Given the description of an element on the screen output the (x, y) to click on. 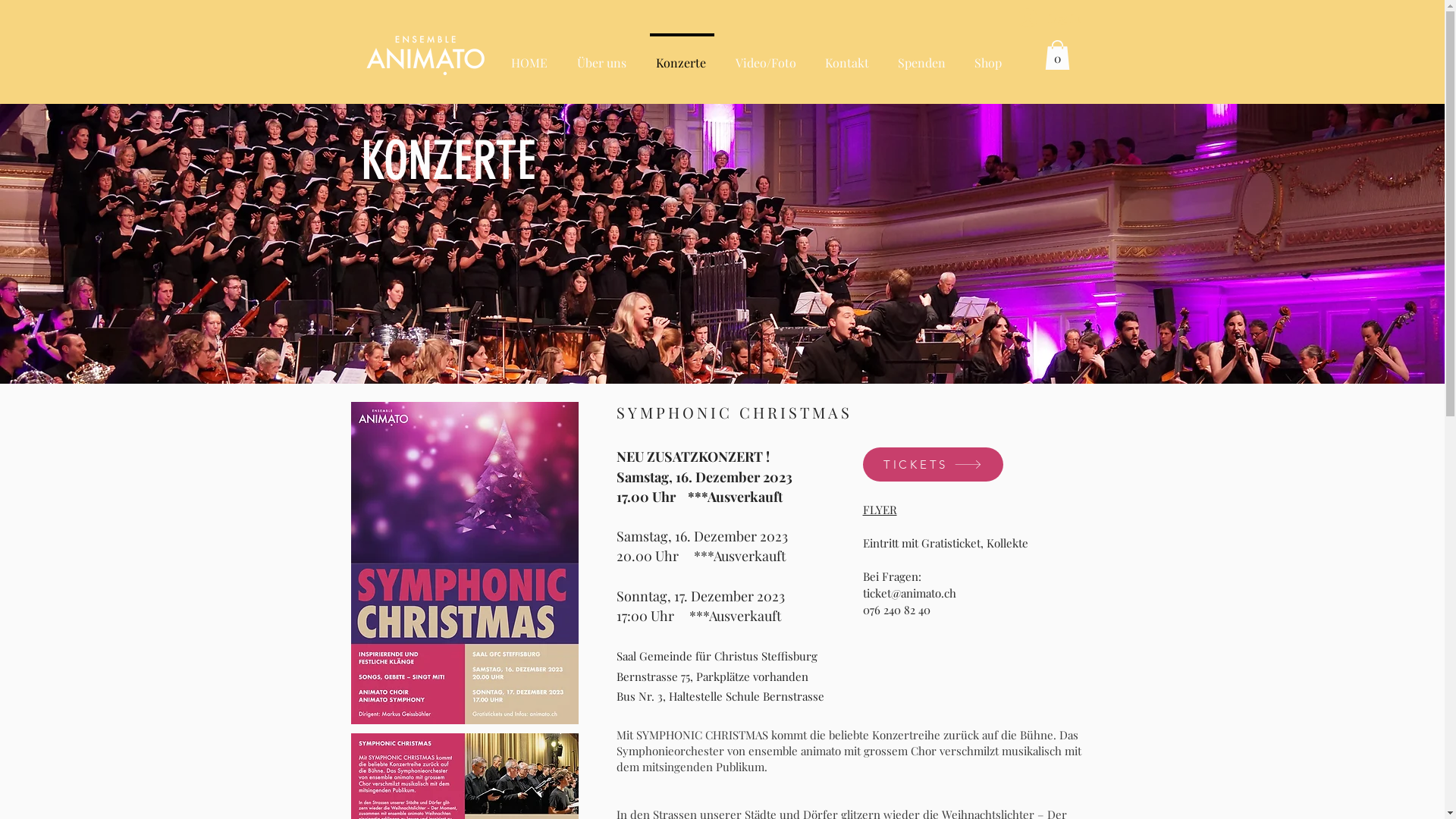
0 Element type: text (1057, 54)
HOME Element type: text (530, 55)
Spenden Element type: text (922, 55)
Shop Element type: text (988, 55)
Video/Foto Element type: text (766, 55)
FLYER Element type: text (879, 509)
Konzerte Element type: text (681, 55)
TICKETS Element type: text (932, 464)
Log In Element type: text (1049, 17)
Kontakt Element type: text (847, 55)
